Given the description of an element on the screen output the (x, y) to click on. 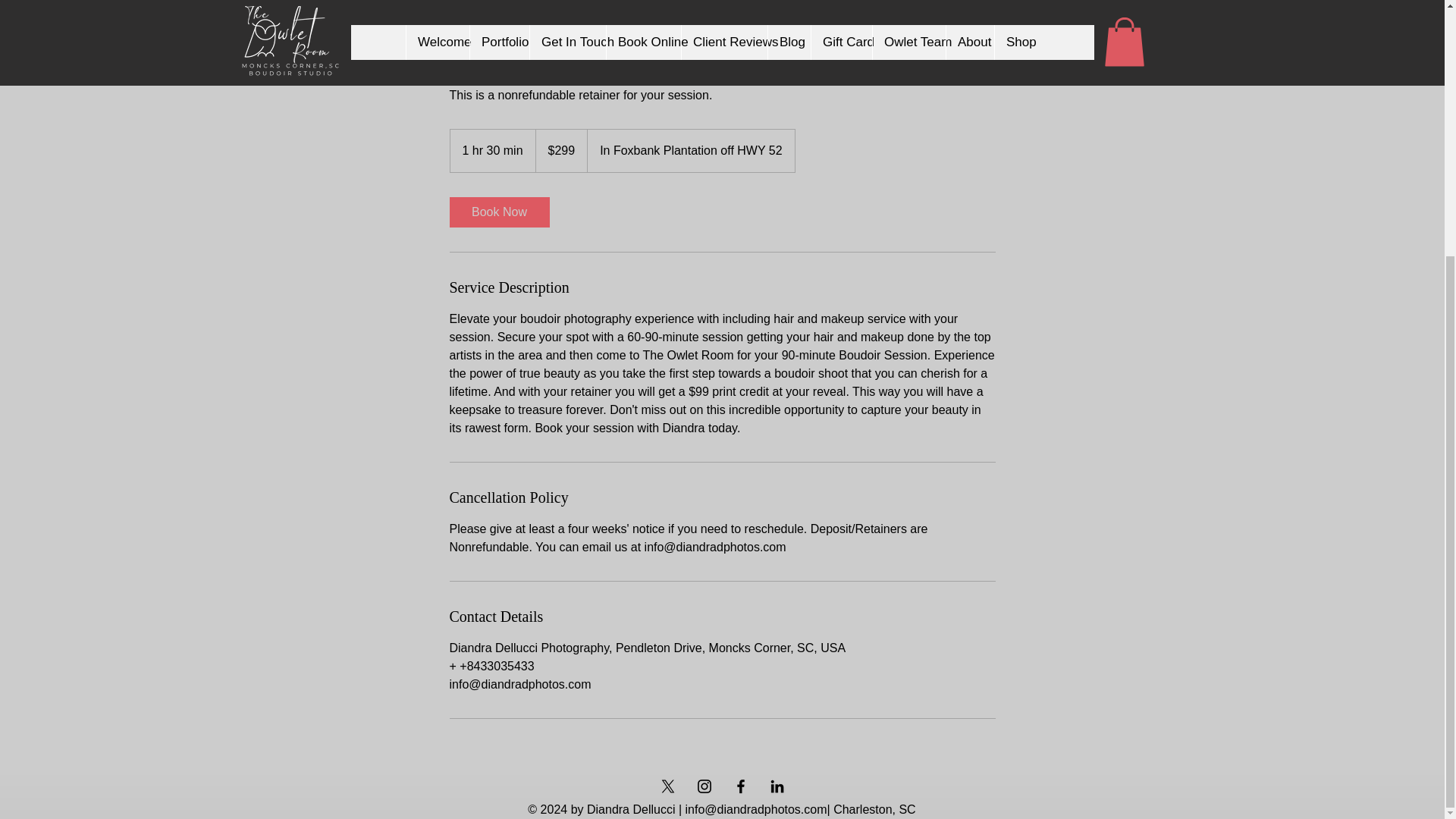
Book Now (498, 212)
